Given the description of an element on the screen output the (x, y) to click on. 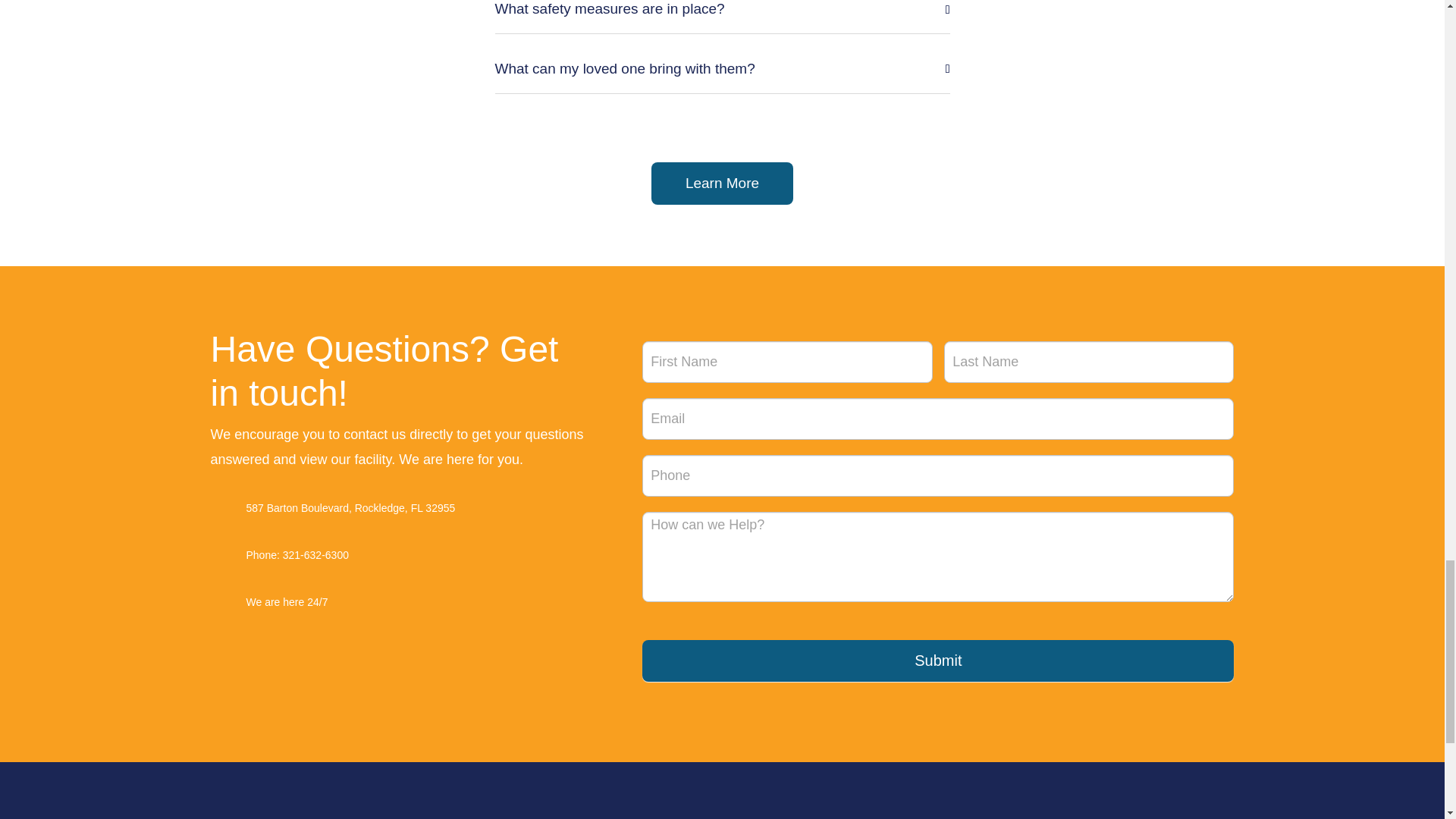
Learn More (721, 183)
Submit (937, 660)
